Given the description of an element on the screen output the (x, y) to click on. 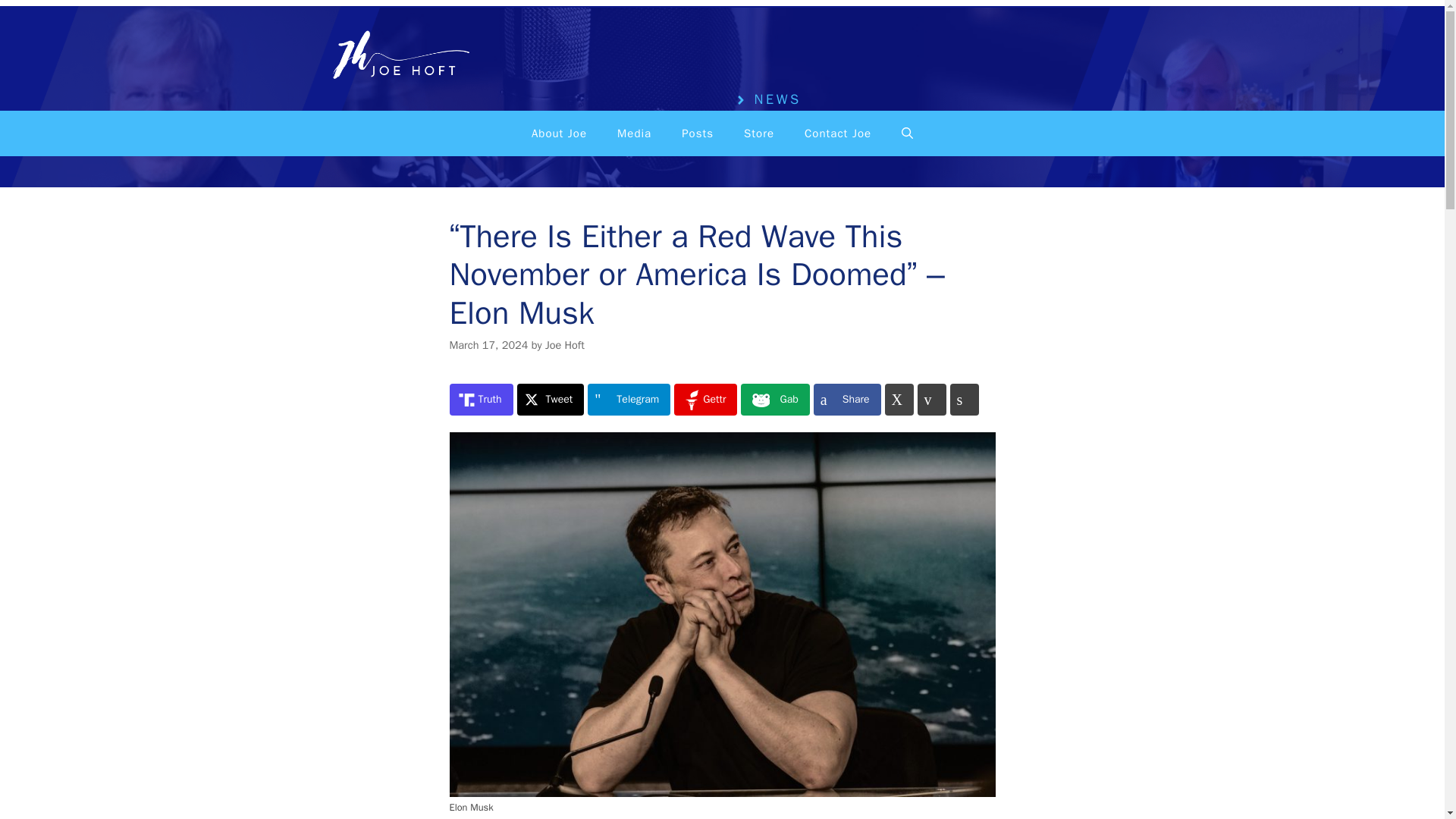
View all posts by Joe Hoft (564, 345)
Joe Hoft (396, 57)
Joe Hoft (564, 345)
Share on Gettr (705, 399)
Truth (480, 399)
Posts (697, 133)
Share on Gab (775, 399)
Share on Share (846, 399)
Store (759, 133)
About Joe (559, 133)
Share on Truth (480, 399)
Telegram (628, 399)
